Given the description of an element on the screen output the (x, y) to click on. 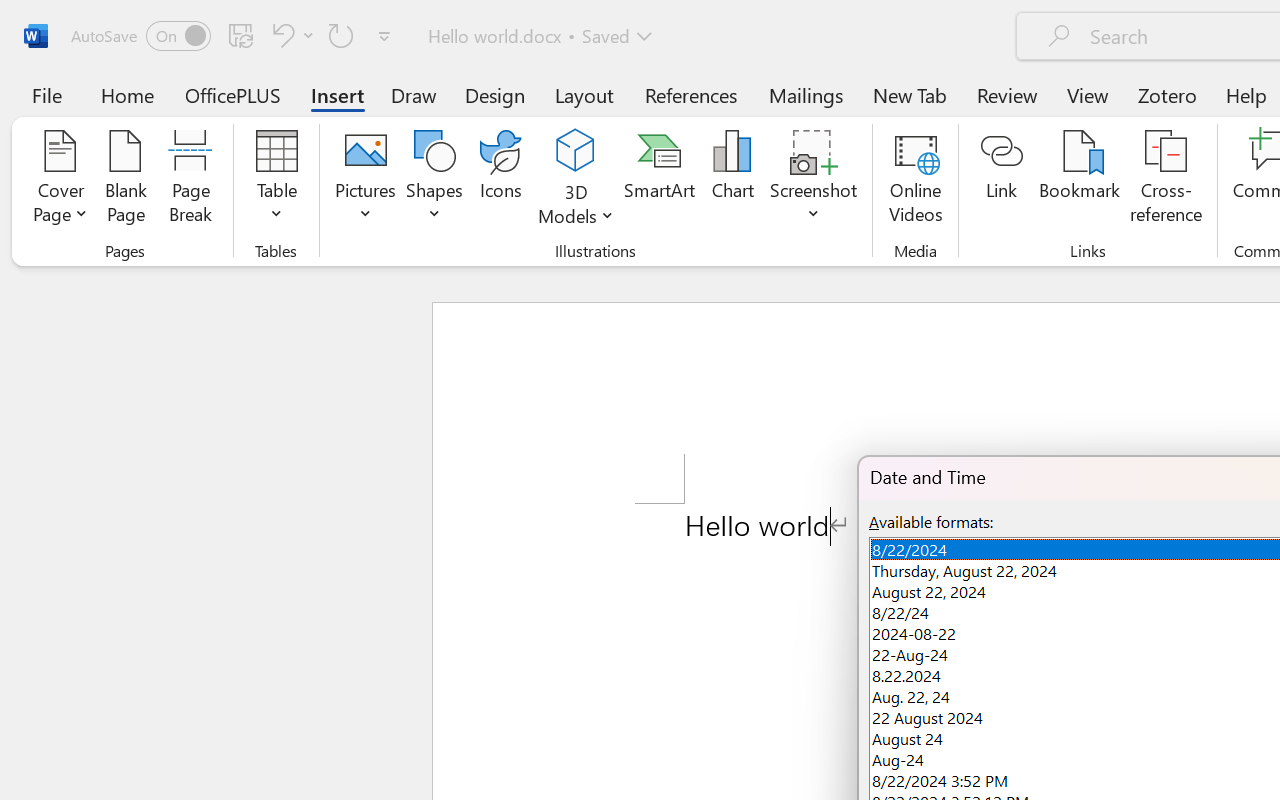
Icons (500, 179)
Review (1007, 94)
Design (495, 94)
Save (241, 35)
File Tab (46, 94)
OfficePLUS (233, 94)
Can't Undo (290, 35)
Link (1001, 179)
Draw (413, 94)
AutoSave (140, 35)
3D Models (576, 179)
View (1087, 94)
More Options (576, 208)
